Given the description of an element on the screen output the (x, y) to click on. 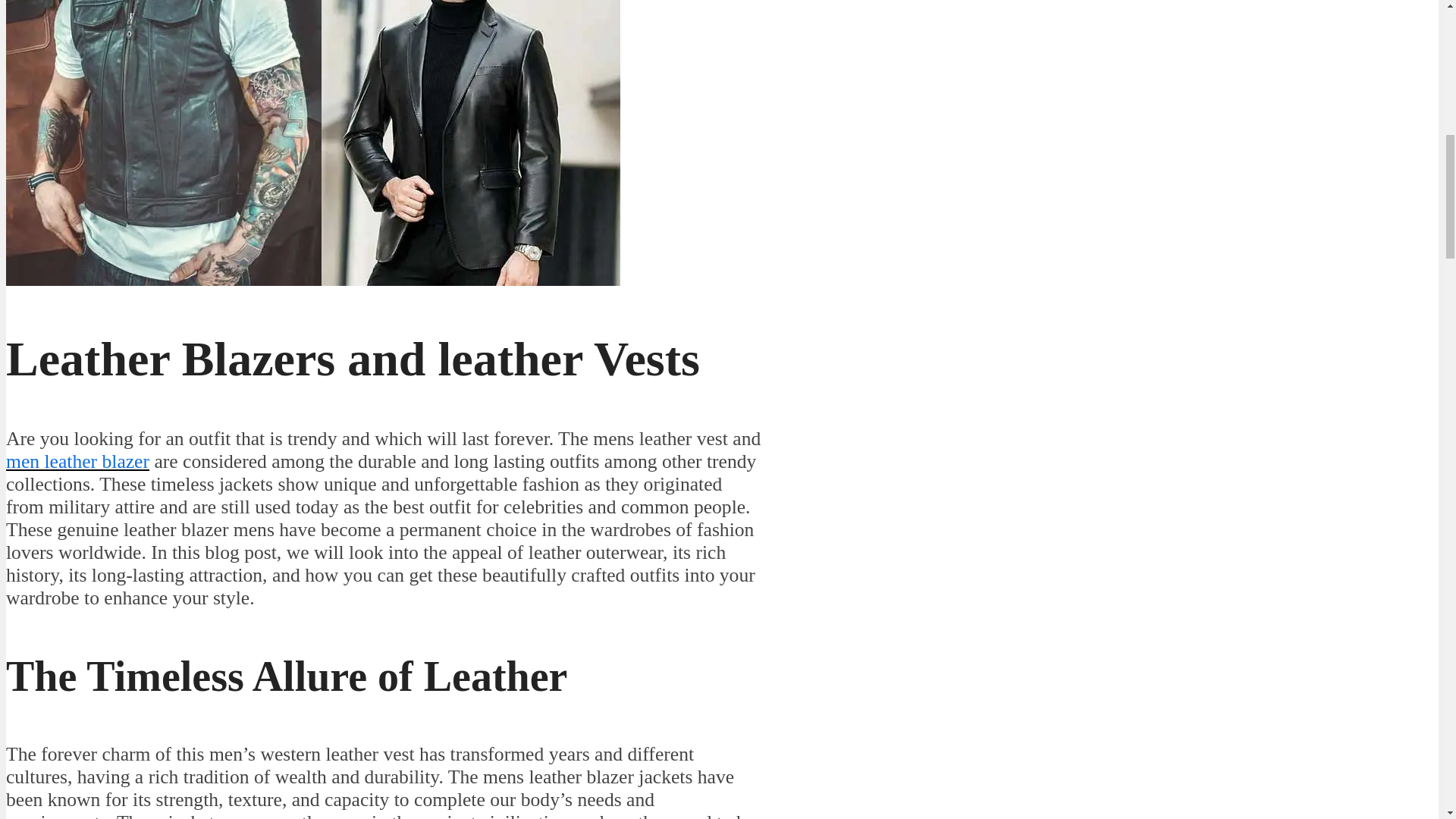
men leather blazer (77, 461)
